Given the description of an element on the screen output the (x, y) to click on. 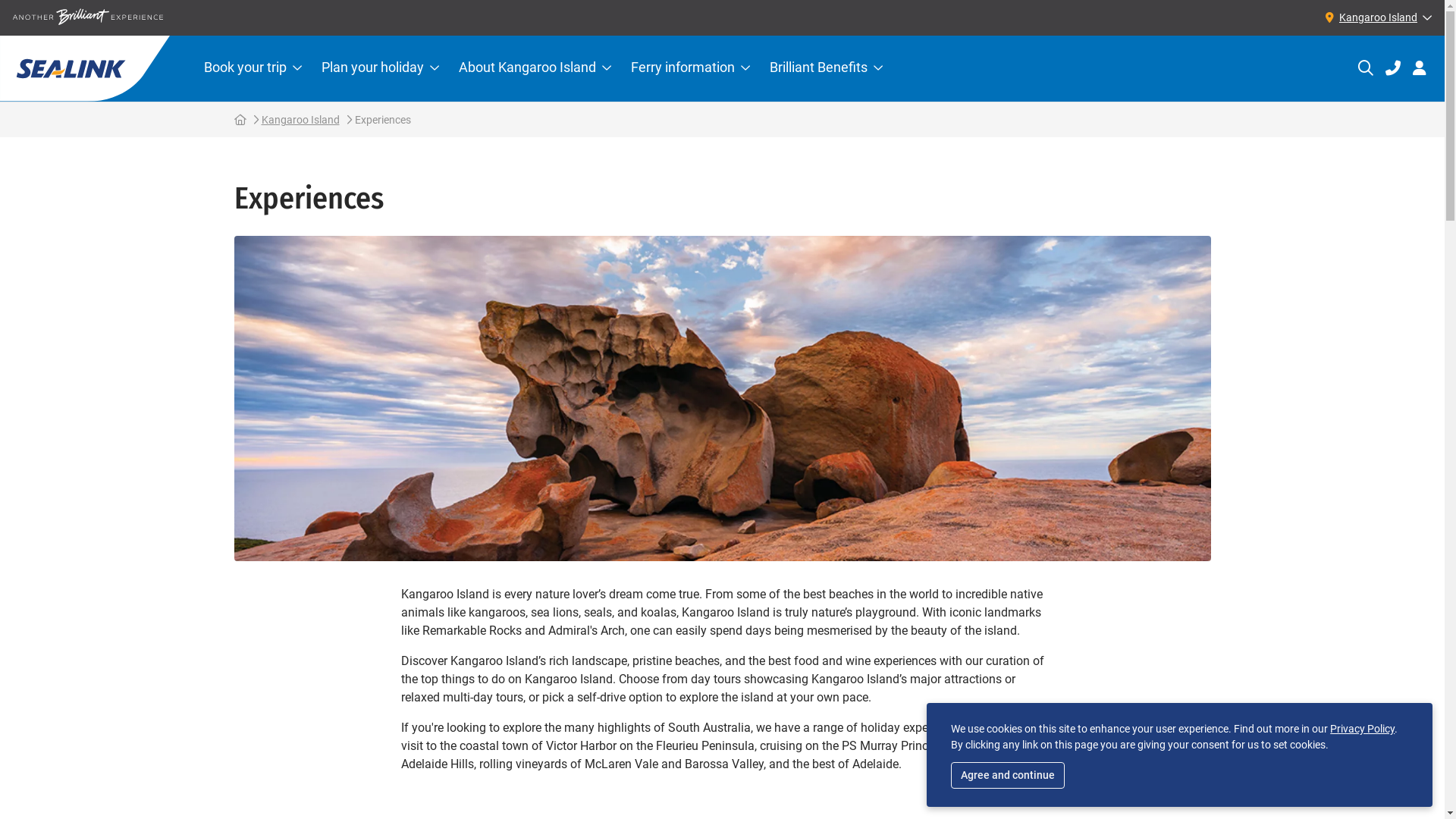
About Kangaroo Island Element type: text (534, 68)
SeaLink Element type: hover (84, 68)
Kangaroo Island Element type: text (1375, 17)
Privacy Policy Element type: text (1362, 728)
Your account / Manage bookings Element type: hover (1419, 68)
Plan your holiday Element type: text (379, 68)
Book your trip Element type: text (252, 68)
Call us Element type: hover (1392, 68)
Another Brilliant experience Element type: hover (87, 17)
Search Element type: hover (1365, 68)
Kangaroo Island Element type: text (299, 119)
Brilliant Benefits Element type: text (825, 68)
Ferry information Element type: text (690, 68)
Agree and continue Element type: text (1007, 775)
